Given the description of an element on the screen output the (x, y) to click on. 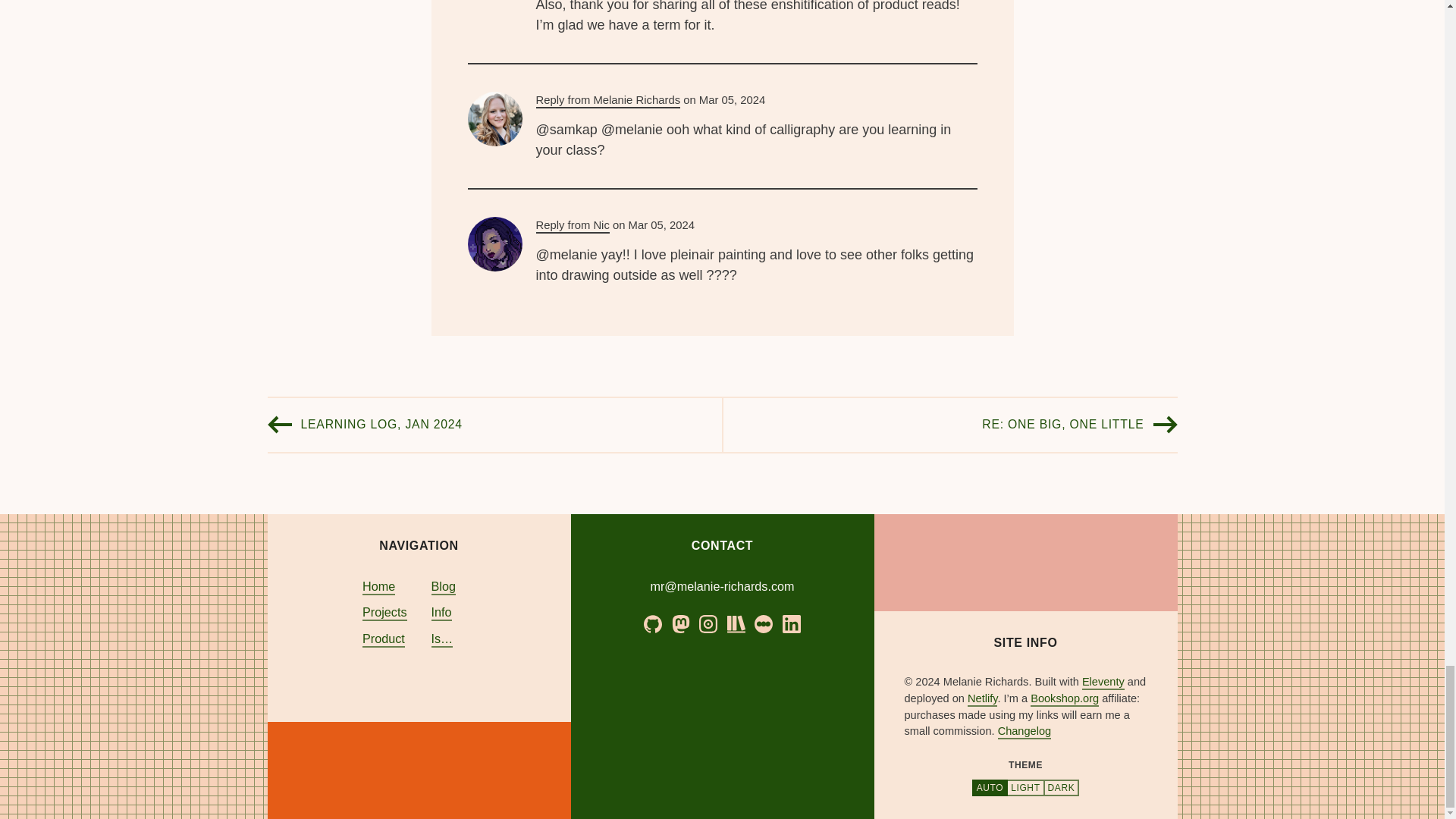
Letterboxd (763, 624)
Mastodon (680, 624)
Instagram (707, 624)
LEARNING LOG, JAN 2024 (380, 425)
RE: ONE BIG, ONE LITTLE (1062, 425)
The StoryGraph (735, 624)
Github (652, 624)
Reply from Nic (571, 226)
LinkedIn (791, 624)
Reply from Melanie Richards (607, 101)
